Given the description of an element on the screen output the (x, y) to click on. 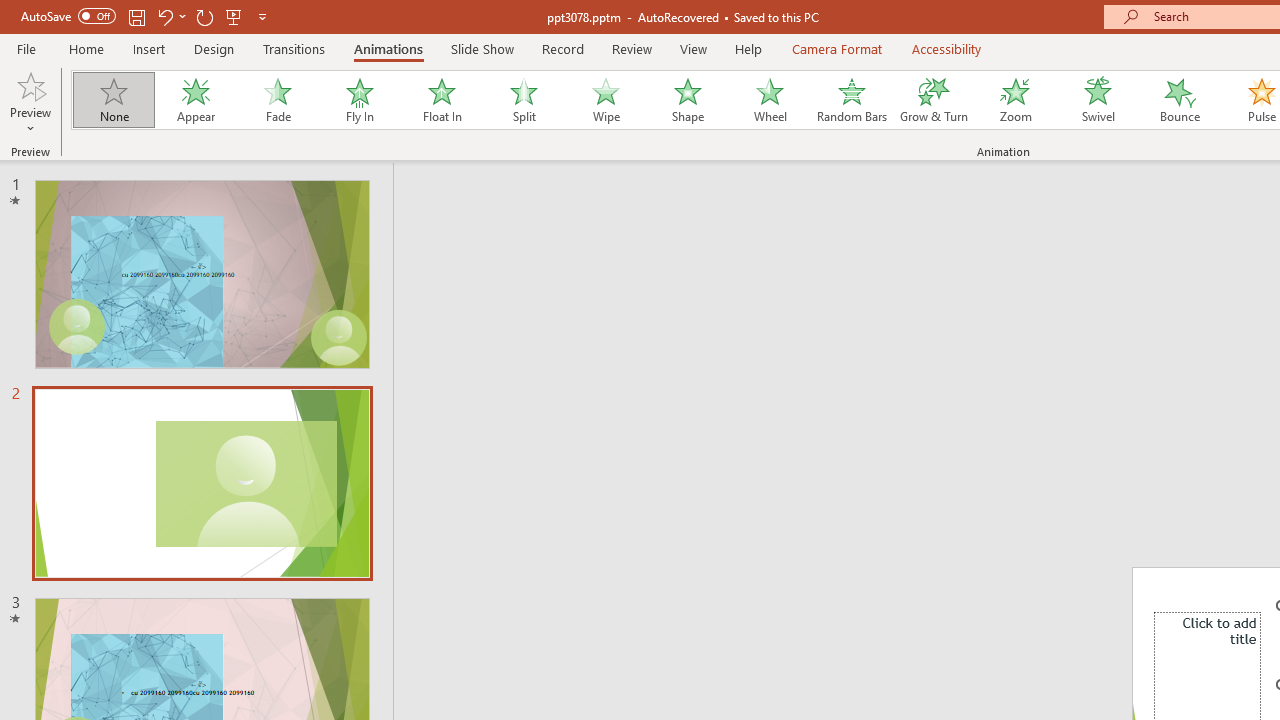
Float In (441, 100)
Camera Format (836, 48)
